Given the description of an element on the screen output the (x, y) to click on. 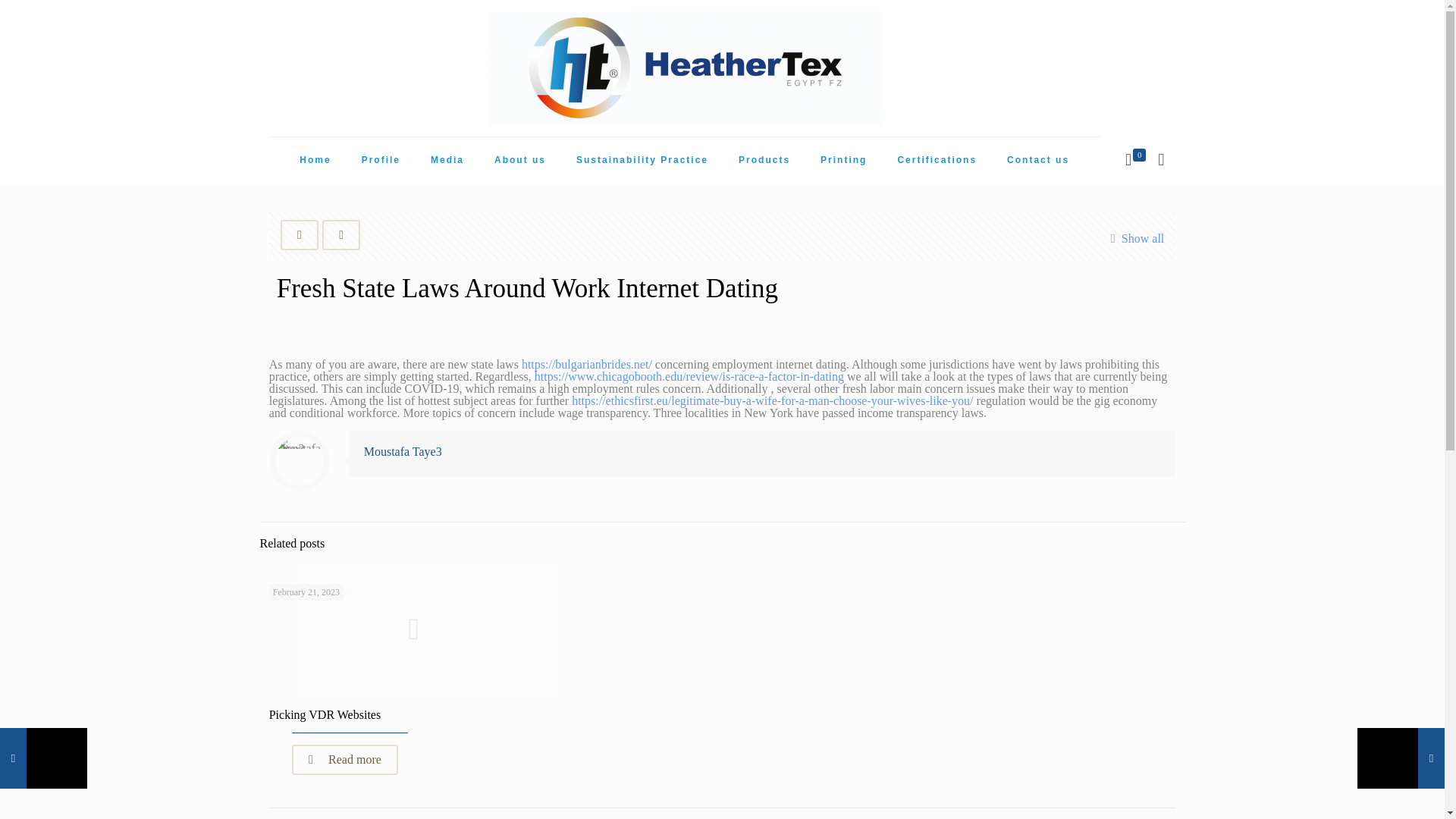
Contact us (1037, 159)
Picking VDR Websites (324, 714)
Media (446, 159)
Heathertex Egypt FZ (684, 68)
Certifications (936, 159)
Read more (344, 759)
Sustainability Practice (641, 159)
Printing (843, 159)
0 (1134, 159)
Profile (380, 159)
